Given the description of an element on the screen output the (x, y) to click on. 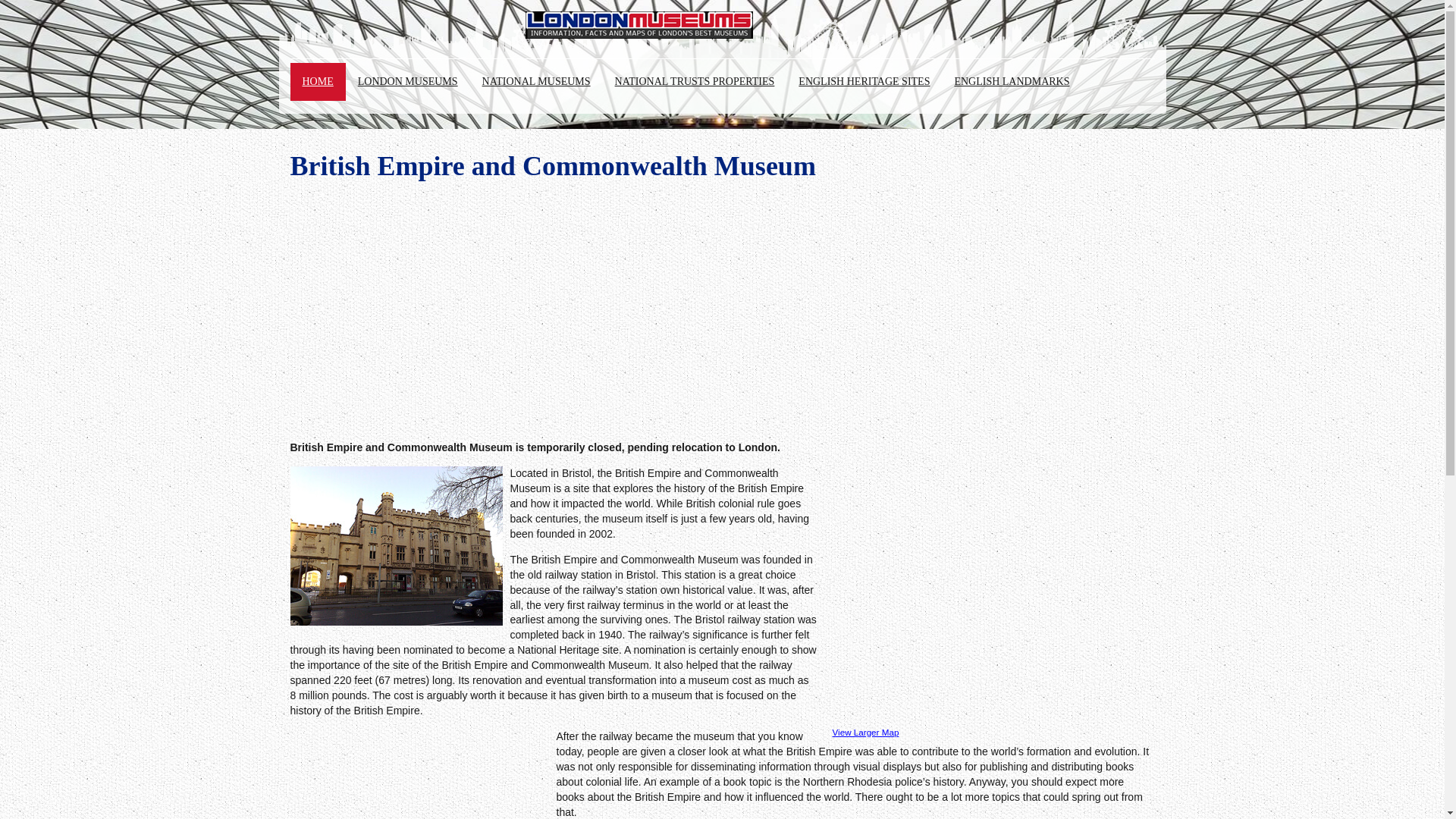
LONDON MUSEUMS (408, 81)
HOME (317, 81)
NATIONAL MUSEUMS (536, 81)
NATIONAL TRUSTS PROPERTIES (694, 81)
Advertisement (416, 776)
